Given the description of an element on the screen output the (x, y) to click on. 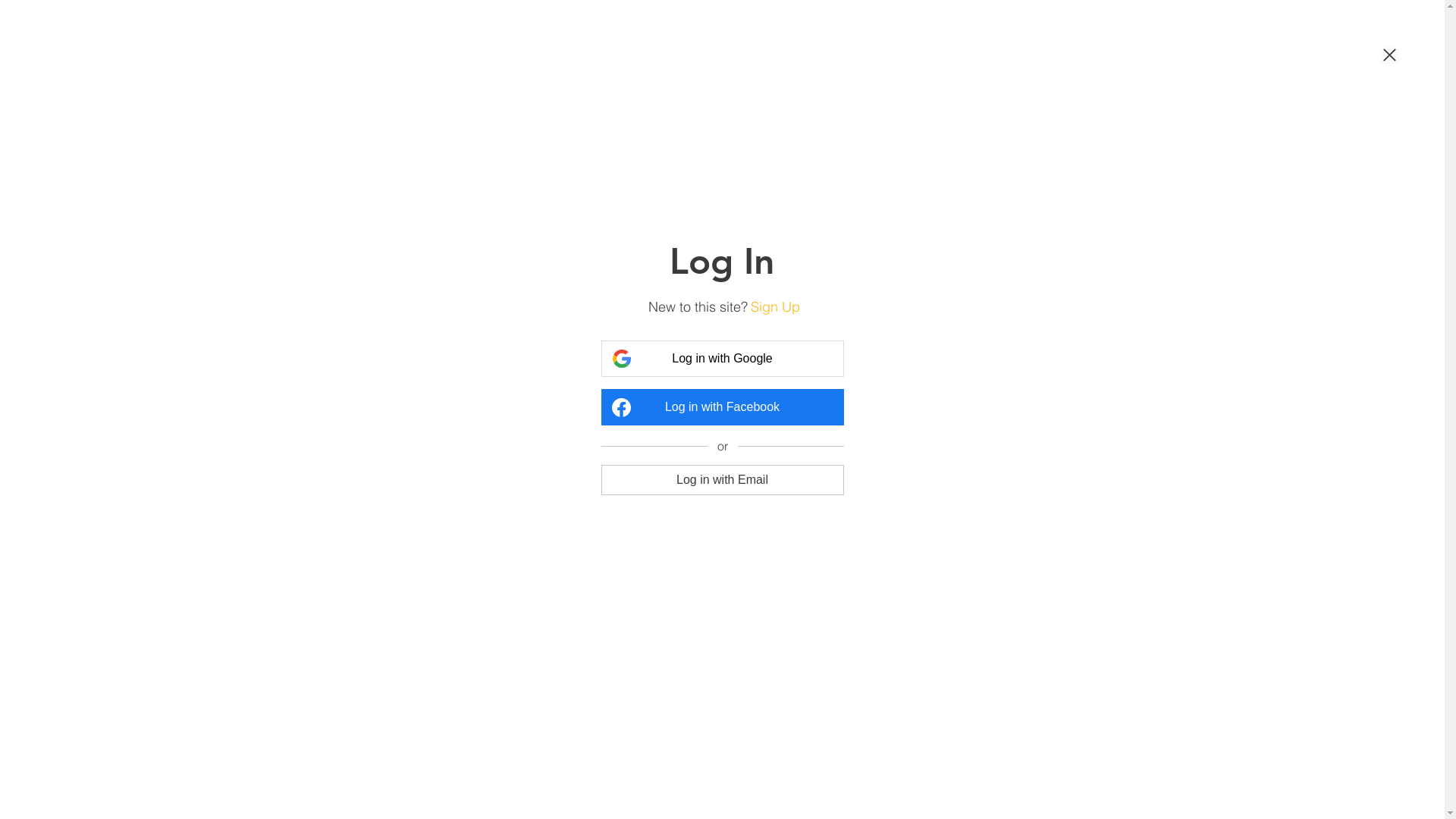
Sign Up Element type: text (775, 306)
Log in with Google Element type: text (721, 358)
Log in with Facebook Element type: text (721, 407)
Log in with Email Element type: text (721, 479)
